Given the description of an element on the screen output the (x, y) to click on. 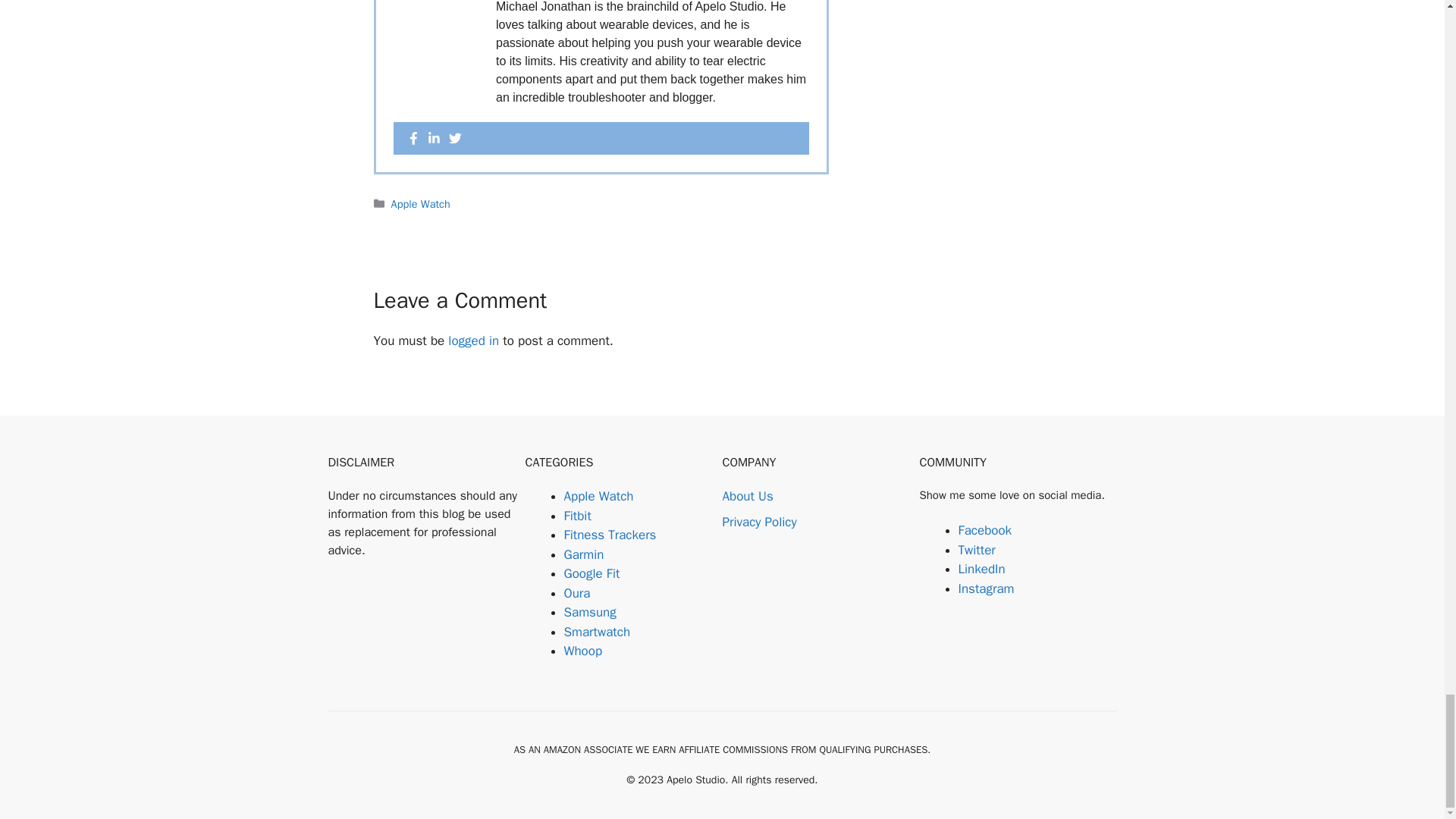
logged in (473, 340)
Fitness Trackers (610, 534)
Apple Watch (420, 203)
Apple Watch (598, 496)
Garmin (584, 554)
Oura (577, 593)
Fitbit (577, 515)
Google Fit (592, 573)
